Given the description of an element on the screen output the (x, y) to click on. 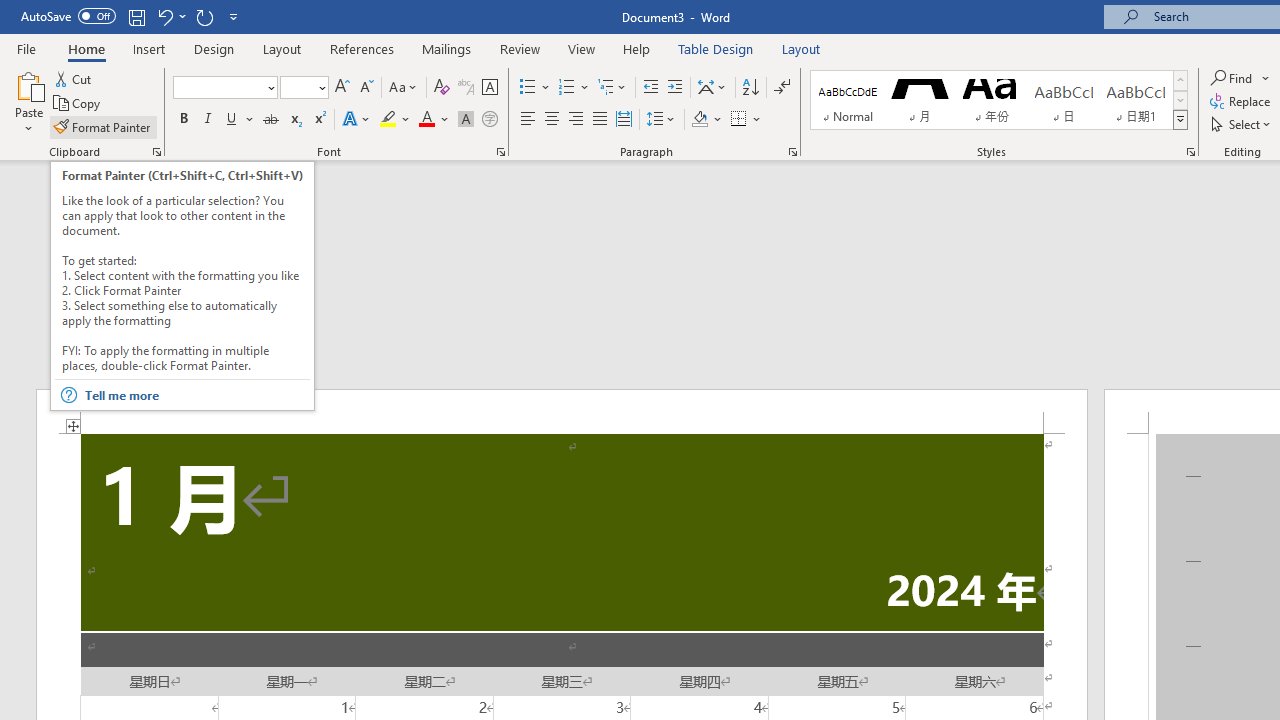
Format Painter (103, 126)
Row up (1179, 79)
Text Highlight Color (395, 119)
AutomationID: QuickStylesGallery (999, 99)
Change Case (404, 87)
Open (320, 87)
Copy (78, 103)
